Given the description of an element on the screen output the (x, y) to click on. 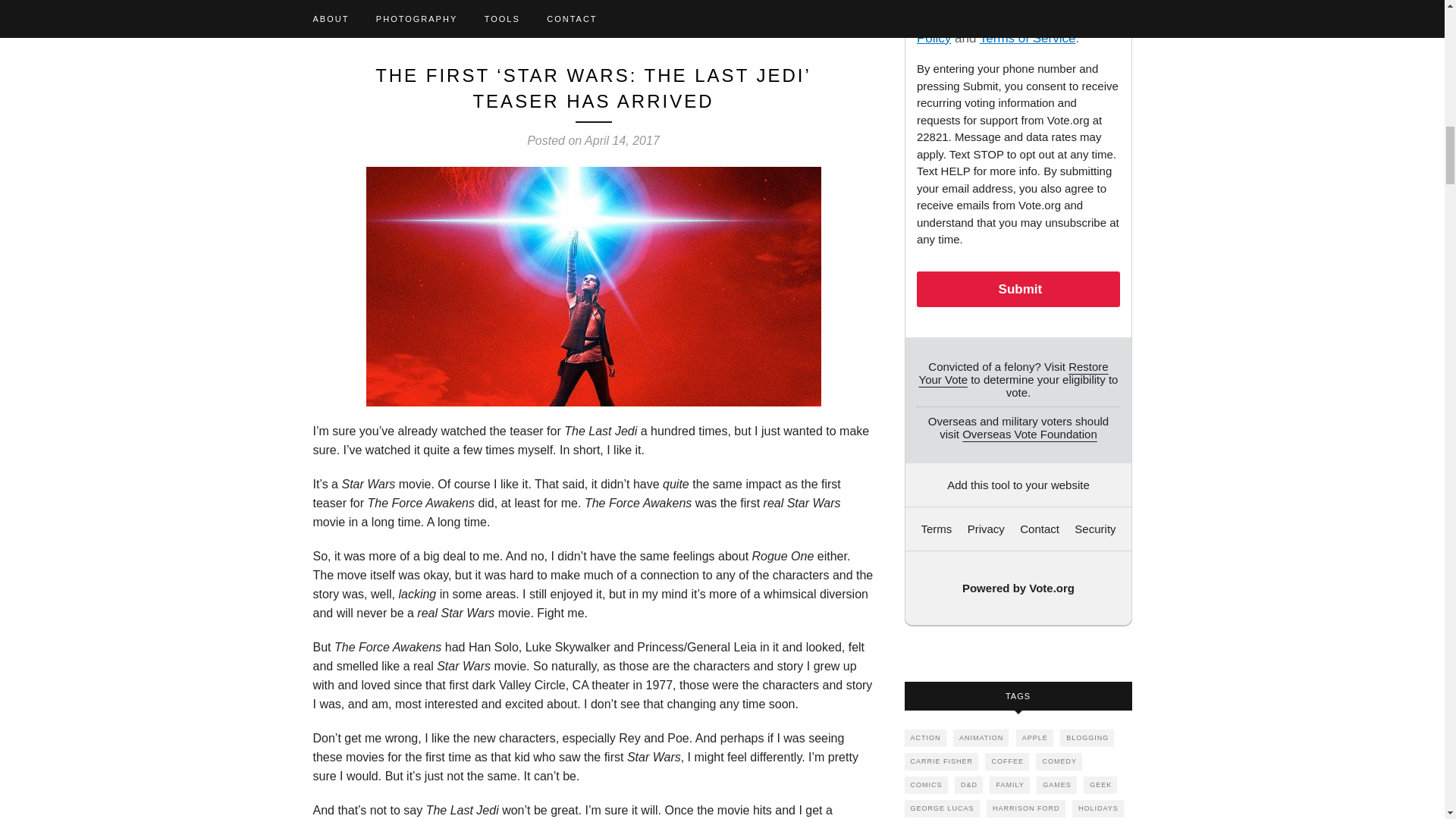
Posts by Chris (783, 1)
CHRIS (783, 1)
